Given the description of an element on the screen output the (x, y) to click on. 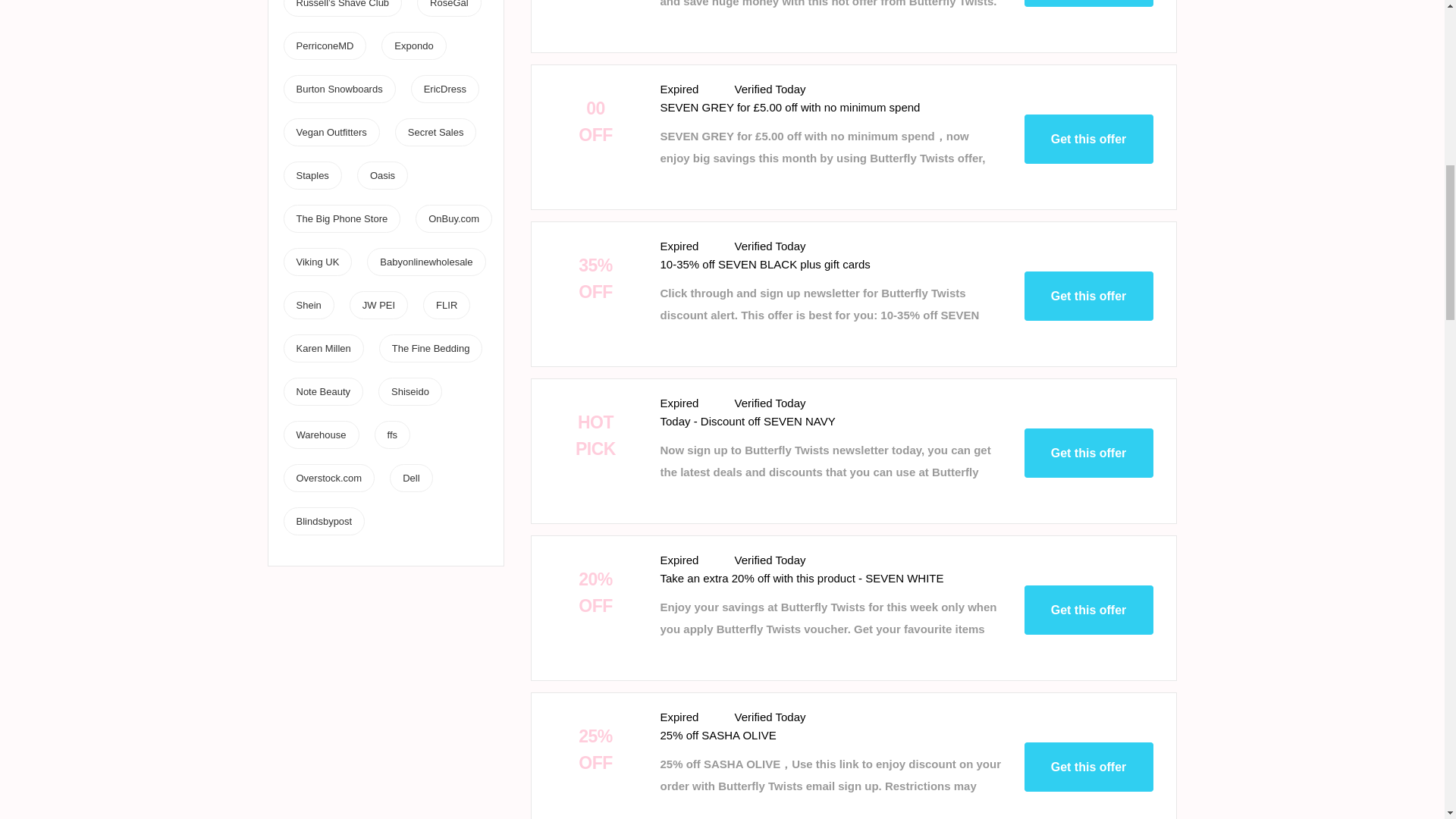
PerriconeMD (324, 45)
Vegan Outfitters (330, 132)
FLIR (446, 305)
RoseGal (448, 4)
Shein (307, 305)
The Big Phone Store (341, 218)
Secret Sales (435, 132)
Overstock.com (328, 478)
Karen Millen (322, 348)
EricDress (444, 89)
JW PEI (378, 305)
The Fine Bedding (430, 348)
Burton Snowboards (338, 89)
Oasis (381, 174)
Expondo (413, 45)
